Given the description of an element on the screen output the (x, y) to click on. 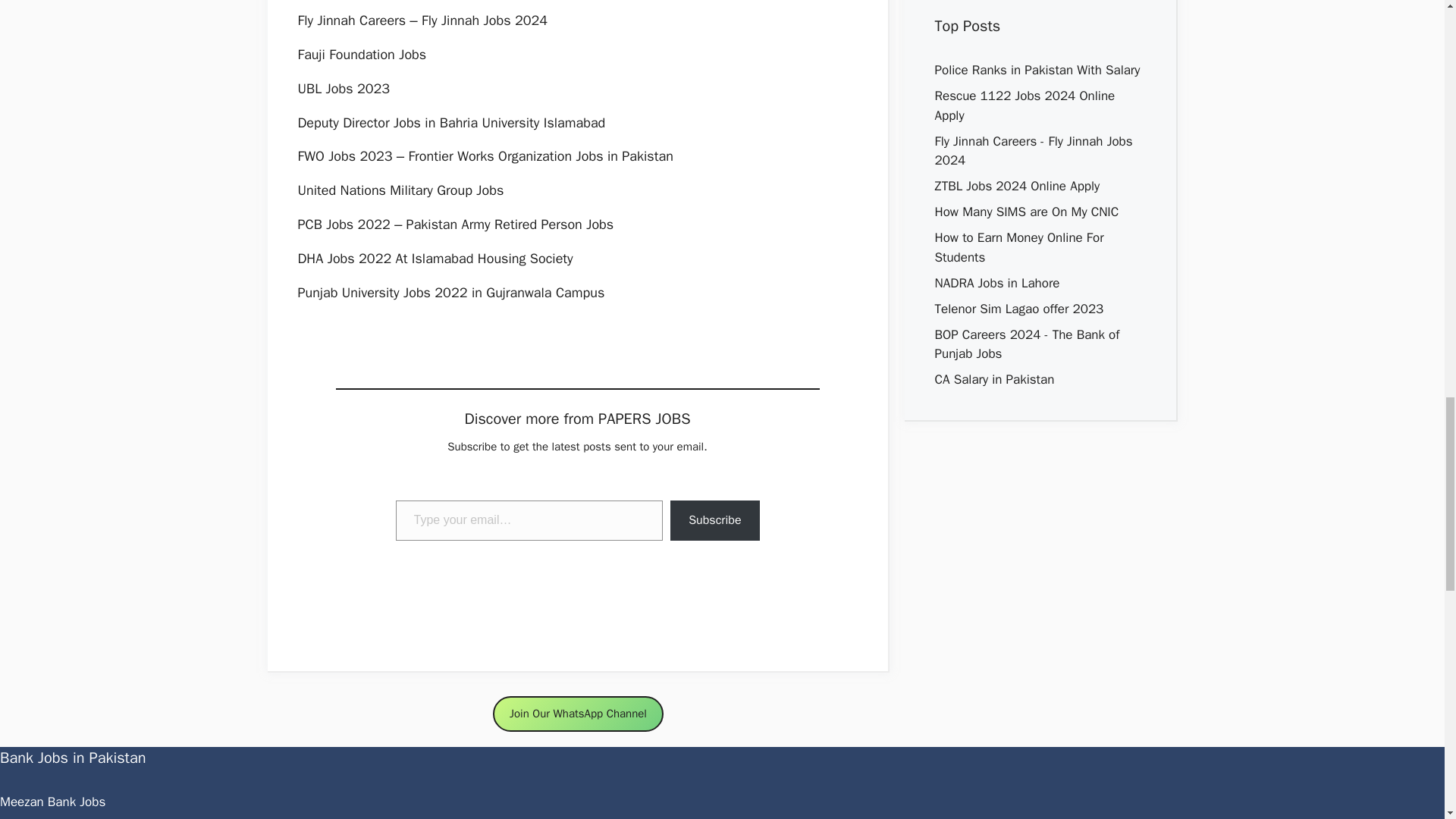
Please fill in this field. (529, 520)
